Given the description of an element on the screen output the (x, y) to click on. 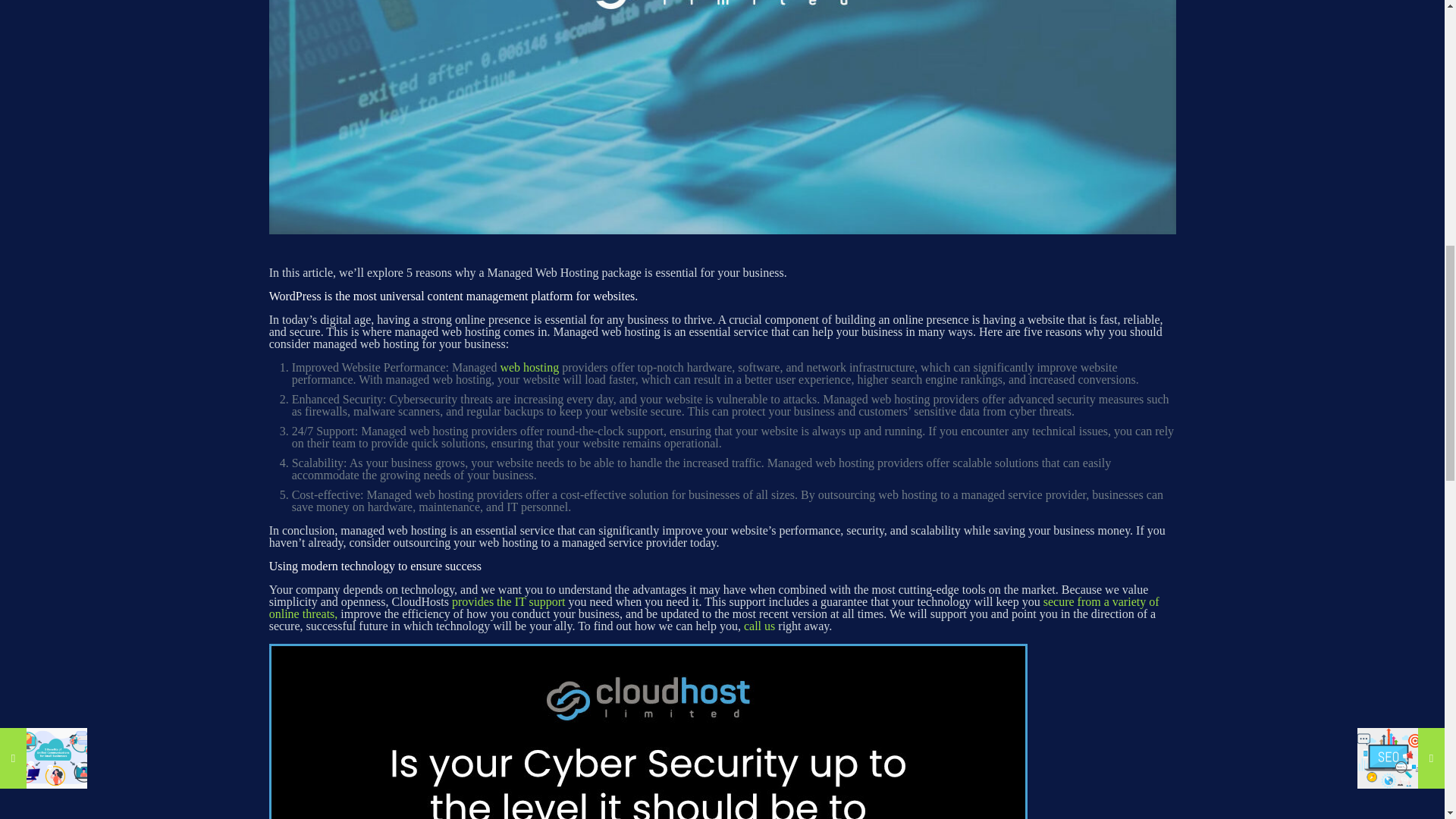
provides the IT support (507, 601)
web hosting (529, 367)
call us (759, 625)
secure from a variety of online threats, (713, 607)
